Given the description of an element on the screen output the (x, y) to click on. 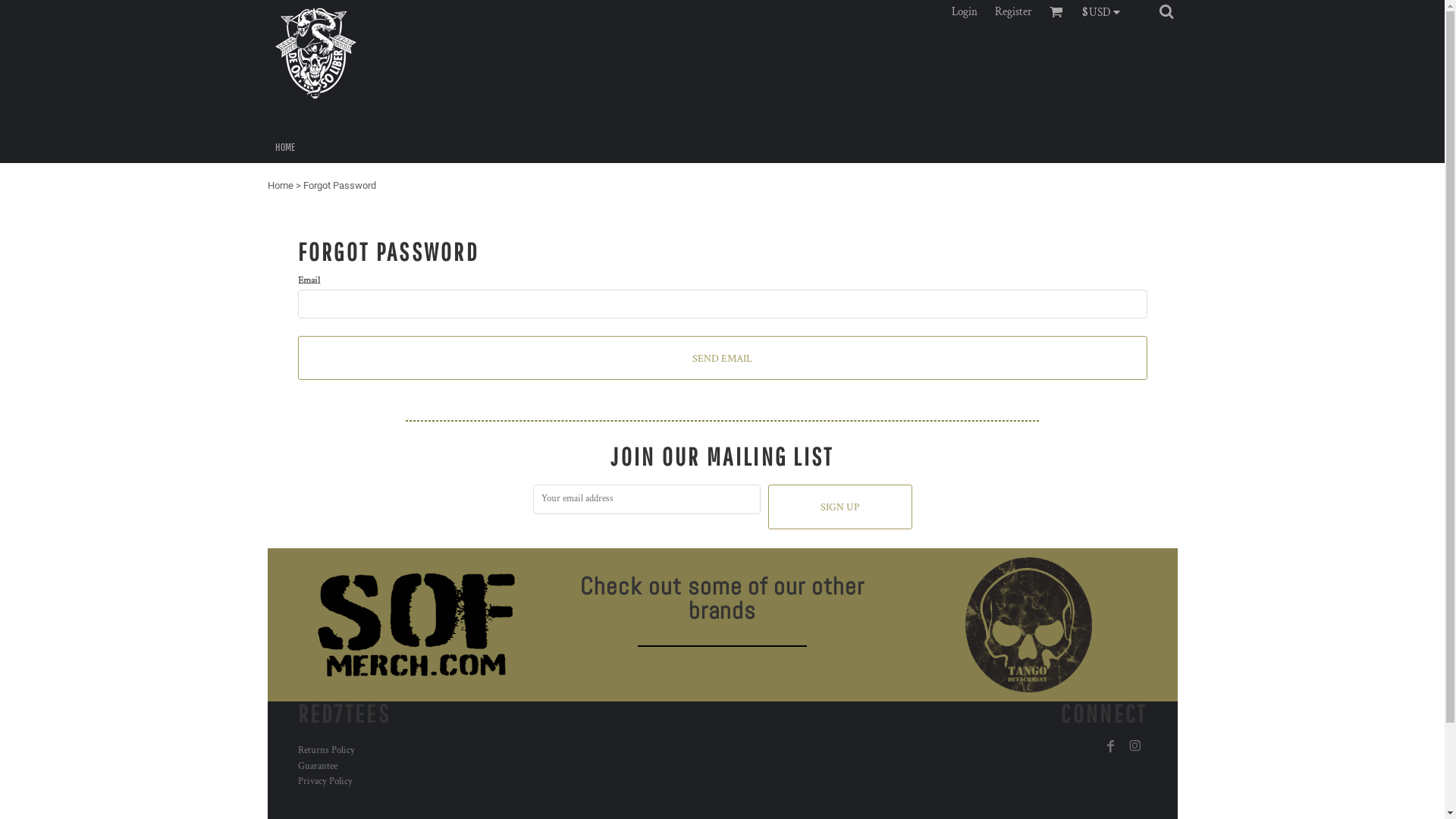
Returns Policy Element type: text (325, 749)
Home Element type: text (279, 185)
HOME Element type: text (284, 145)
Guarantee Element type: text (316, 765)
Privacy Policy Element type: text (324, 781)
Login Element type: text (964, 11)
SEND EMAIL Element type: text (721, 357)
as Element type: text (11, 7)
Register Element type: text (1013, 11)
SIGN UP Element type: text (839, 506)
